Given the description of an element on the screen output the (x, y) to click on. 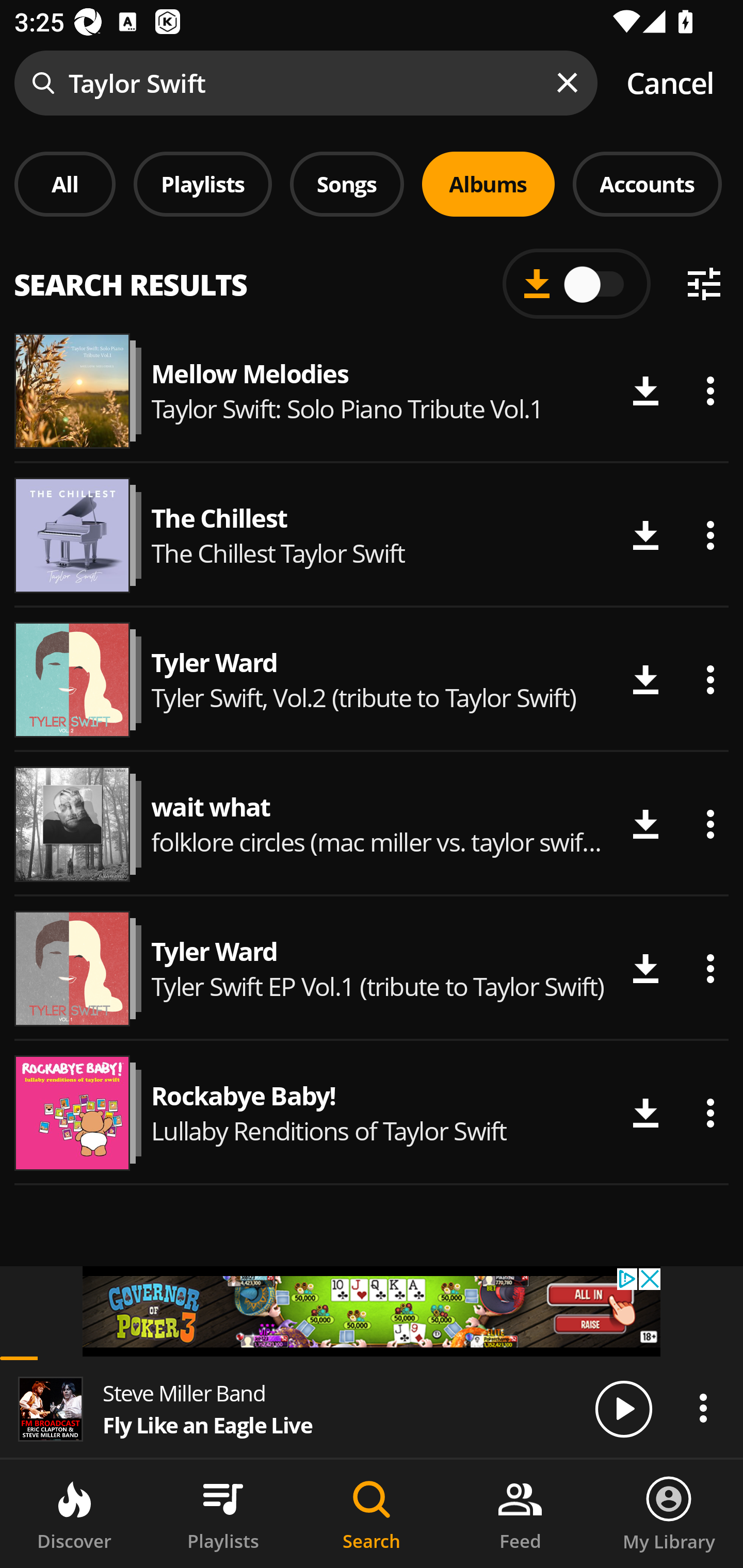
Taylor Swift Cancel (371, 82)
Cancel (670, 82)
All (64, 184)
Playlists (202, 184)
Songs (346, 184)
Albums (488, 184)
Accounts (647, 184)
All Country Afrosounds Pop Caribbean (371, 275)
Pop (529, 288)
Download (644, 391)
Actions (710, 391)
Download (644, 535)
Actions (710, 535)
Download (644, 679)
Actions (710, 679)
Download (644, 823)
Actions (710, 823)
Download (644, 968)
Actions (710, 968)
Download (644, 1113)
Actions (710, 1113)
privacy (371, 1310)
Actions (703, 1407)
Play/Pause (623, 1408)
Discover (74, 1513)
Playlists (222, 1513)
Search (371, 1513)
Feed (519, 1513)
My Library (668, 1513)
